Given the description of an element on the screen output the (x, y) to click on. 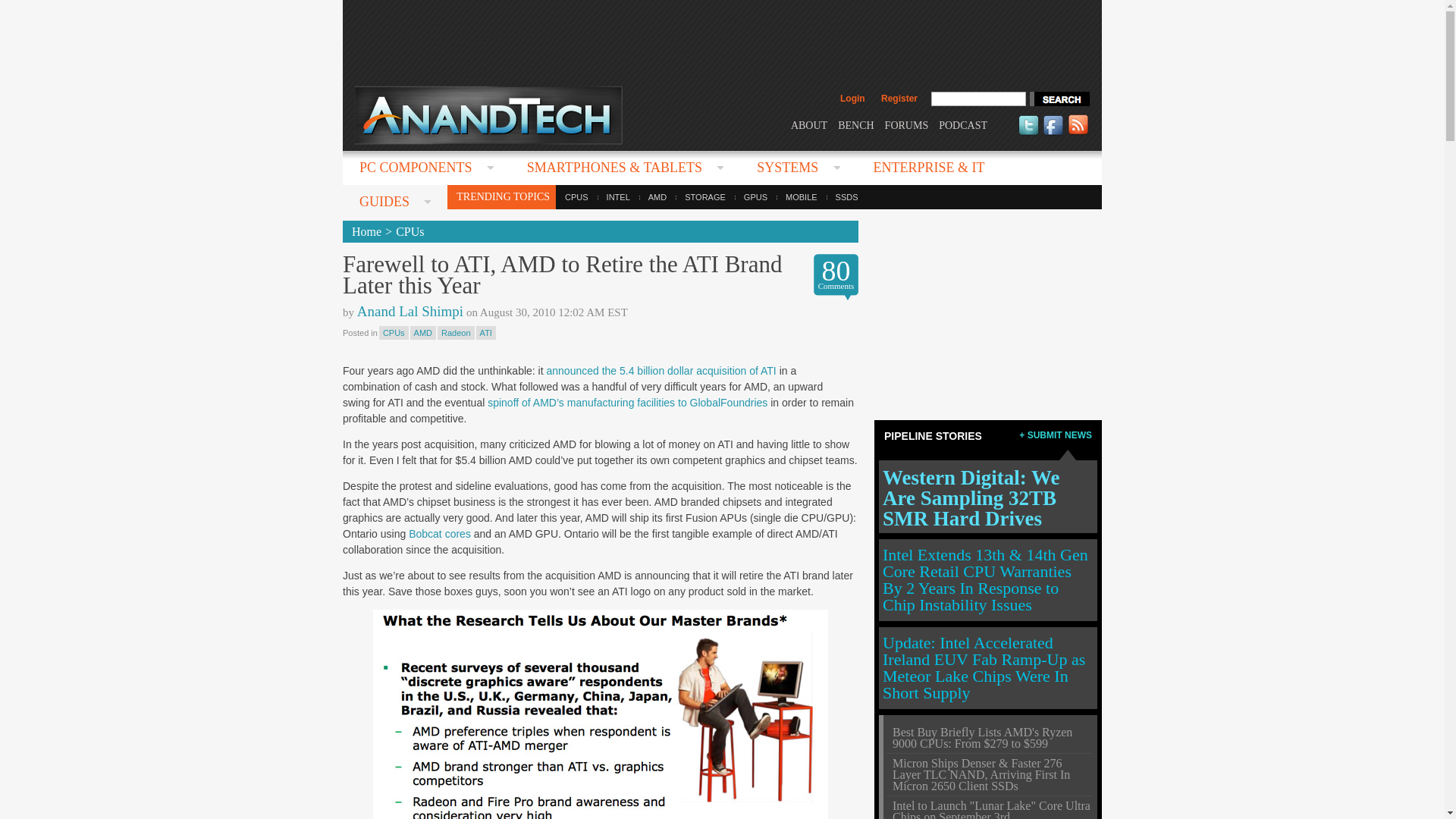
Login (852, 98)
PODCAST (963, 125)
search (1059, 98)
search (1059, 98)
ABOUT (808, 125)
search (1059, 98)
Register (898, 98)
BENCH (855, 125)
FORUMS (906, 125)
